Given the description of an element on the screen output the (x, y) to click on. 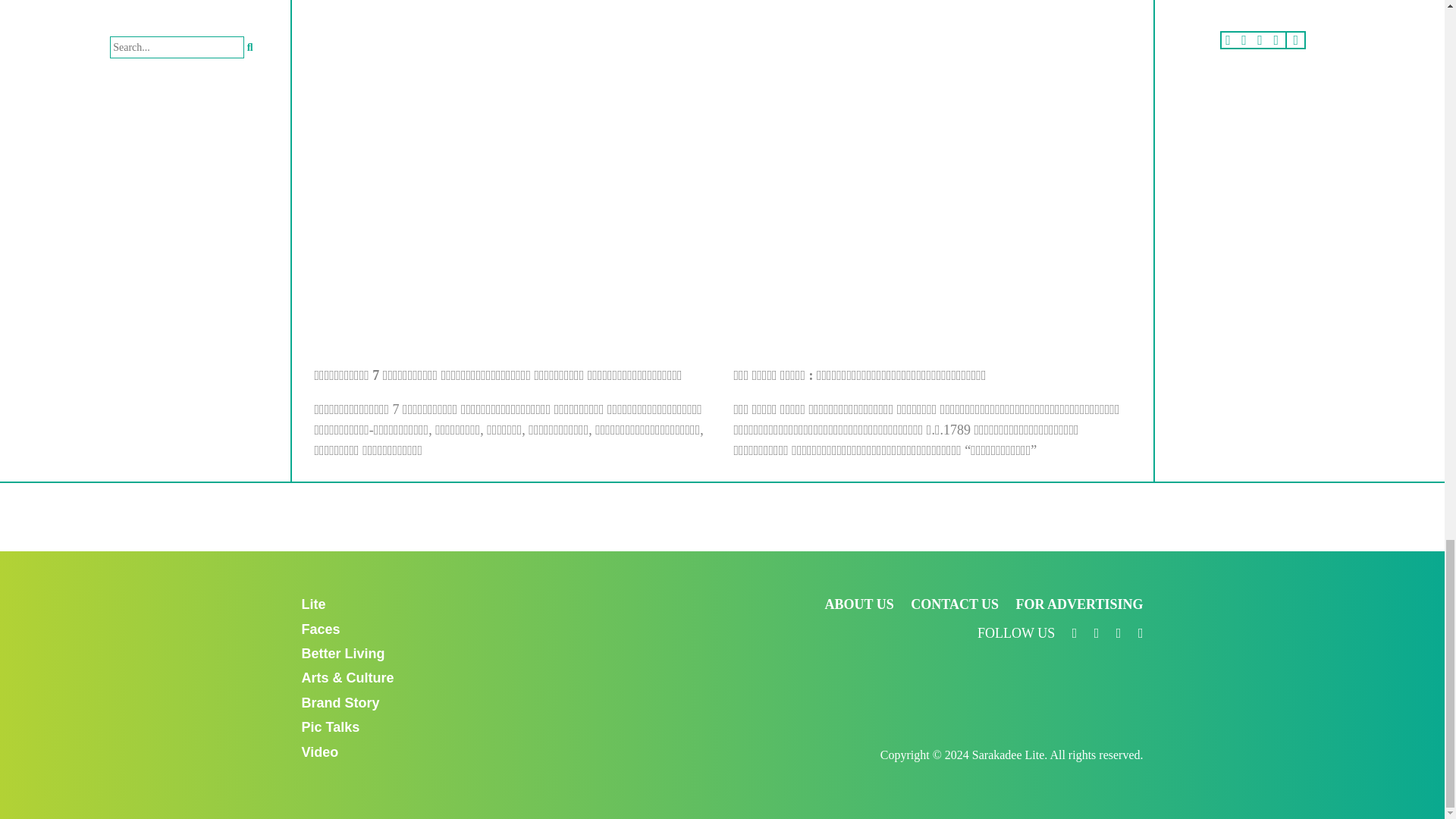
Faces (320, 629)
Brand Story (340, 702)
Lite (313, 604)
Better Living (343, 653)
